Given the description of an element on the screen output the (x, y) to click on. 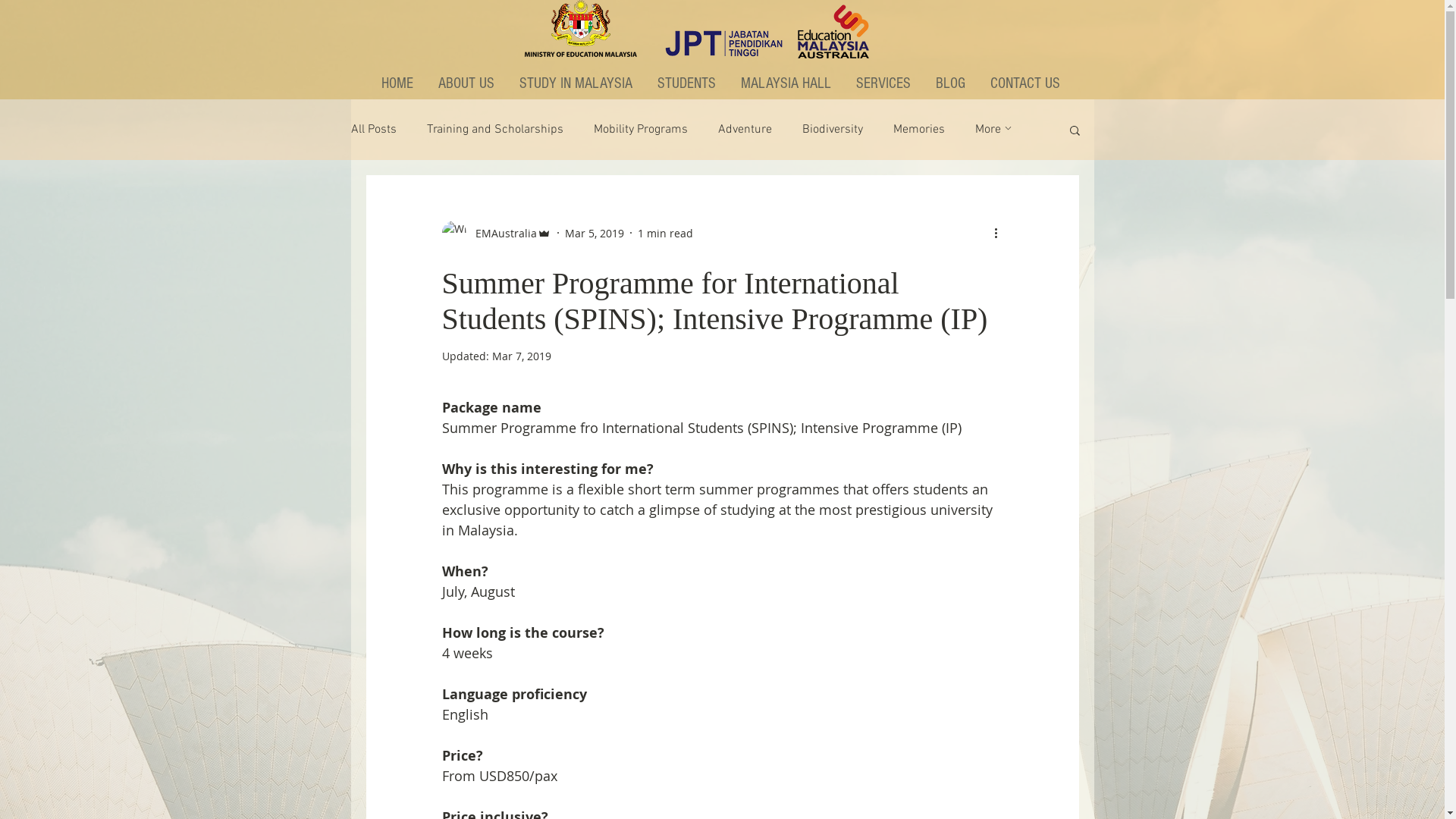
STUDENTS Element type: text (687, 83)
BLOG Element type: text (950, 83)
HOME Element type: text (398, 83)
Adventure Element type: text (744, 129)
All Posts Element type: text (372, 129)
Memories Element type: text (918, 129)
EMAustralia Element type: text (495, 232)
Mobility Programs Element type: text (640, 129)
CONTACT US Element type: text (1025, 83)
Logo KPT (Font Hitam).png Element type: hover (580, 29)
Biodiversity Element type: text (832, 129)
Training and Scholarships Element type: text (494, 129)
